Given the description of an element on the screen output the (x, y) to click on. 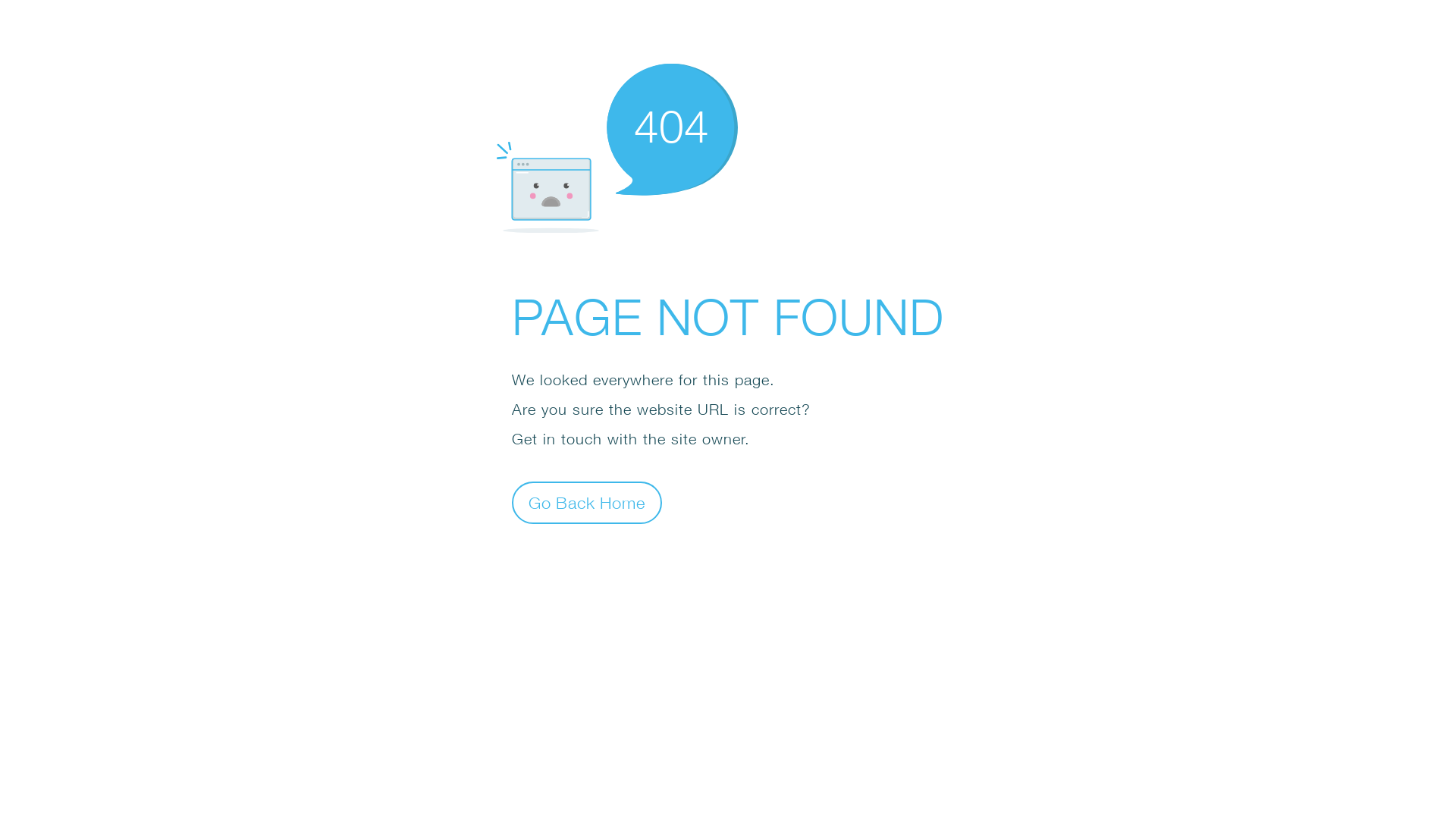
Go Back Home Element type: text (586, 502)
